Given the description of an element on the screen output the (x, y) to click on. 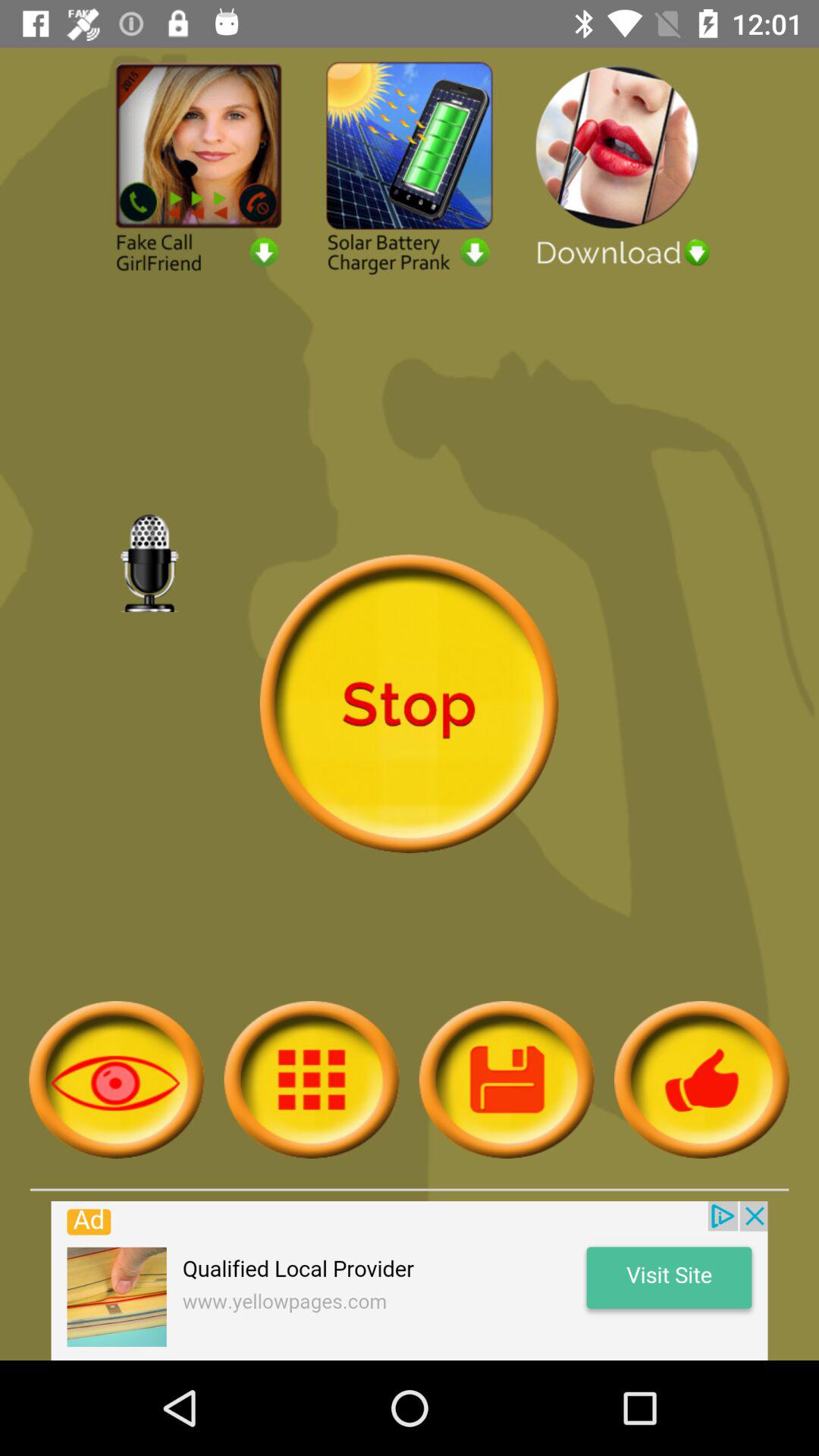
download advertisement (619, 166)
